Given the description of an element on the screen output the (x, y) to click on. 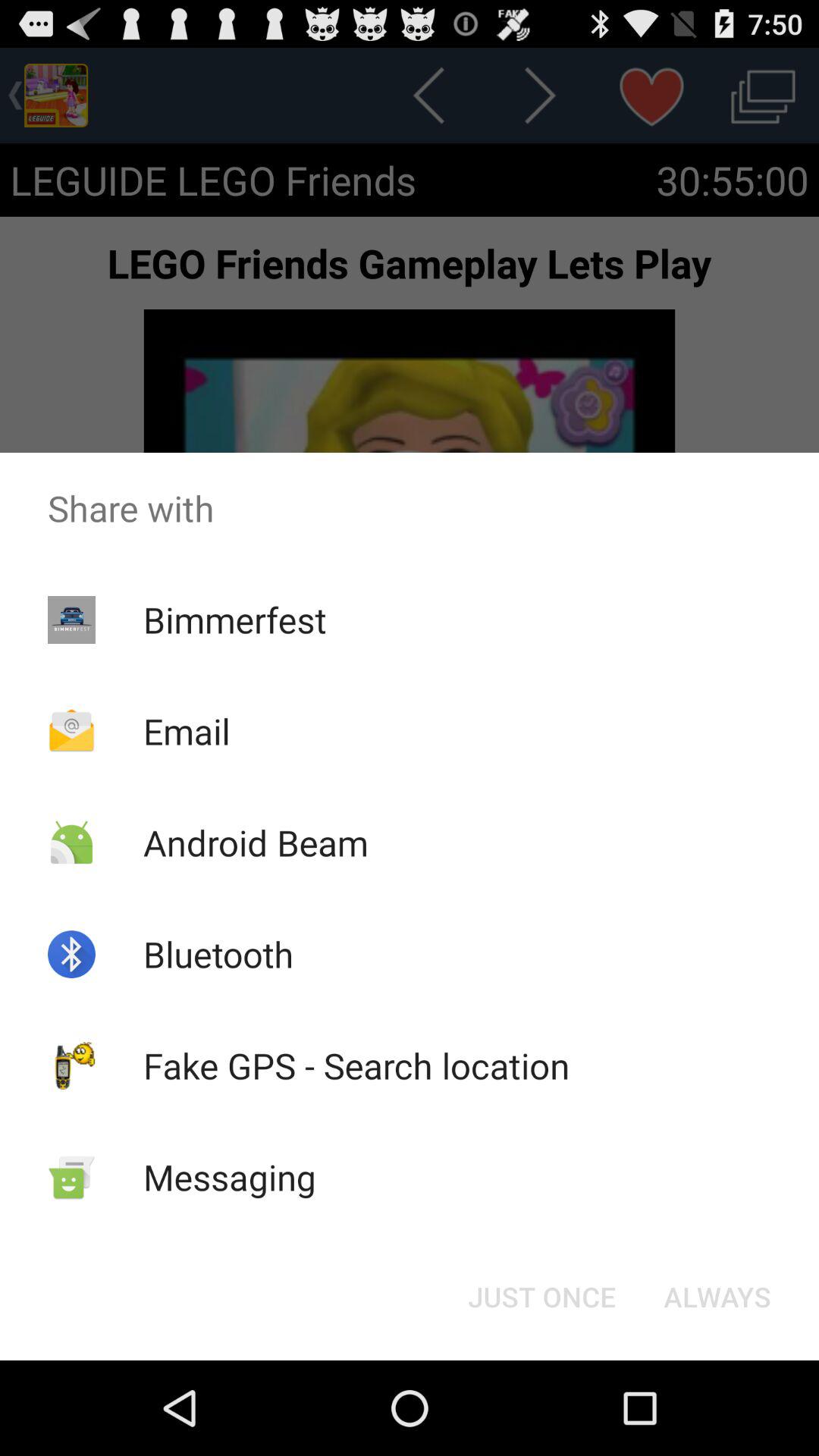
launch bluetooth icon (218, 953)
